Given the description of an element on the screen output the (x, y) to click on. 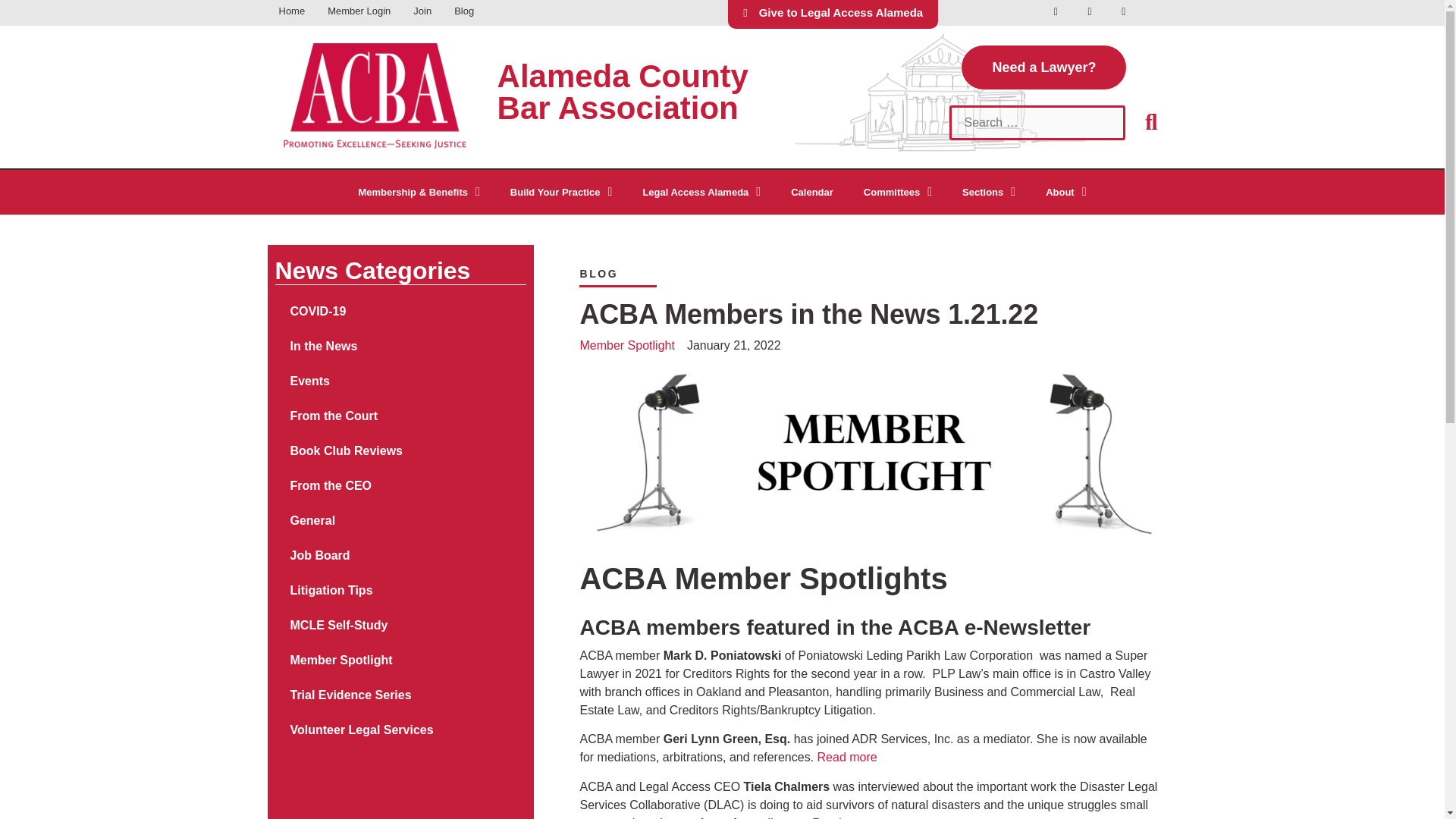
Calendar (812, 192)
Blog (463, 12)
Need a Lawyer? (1043, 67)
Join (421, 12)
Home (290, 12)
Build Your Practice (561, 192)
Committees (897, 192)
Legal Access Alameda (701, 192)
Give to Legal Access Alameda (832, 14)
Member Login (358, 12)
